Given the description of an element on the screen output the (x, y) to click on. 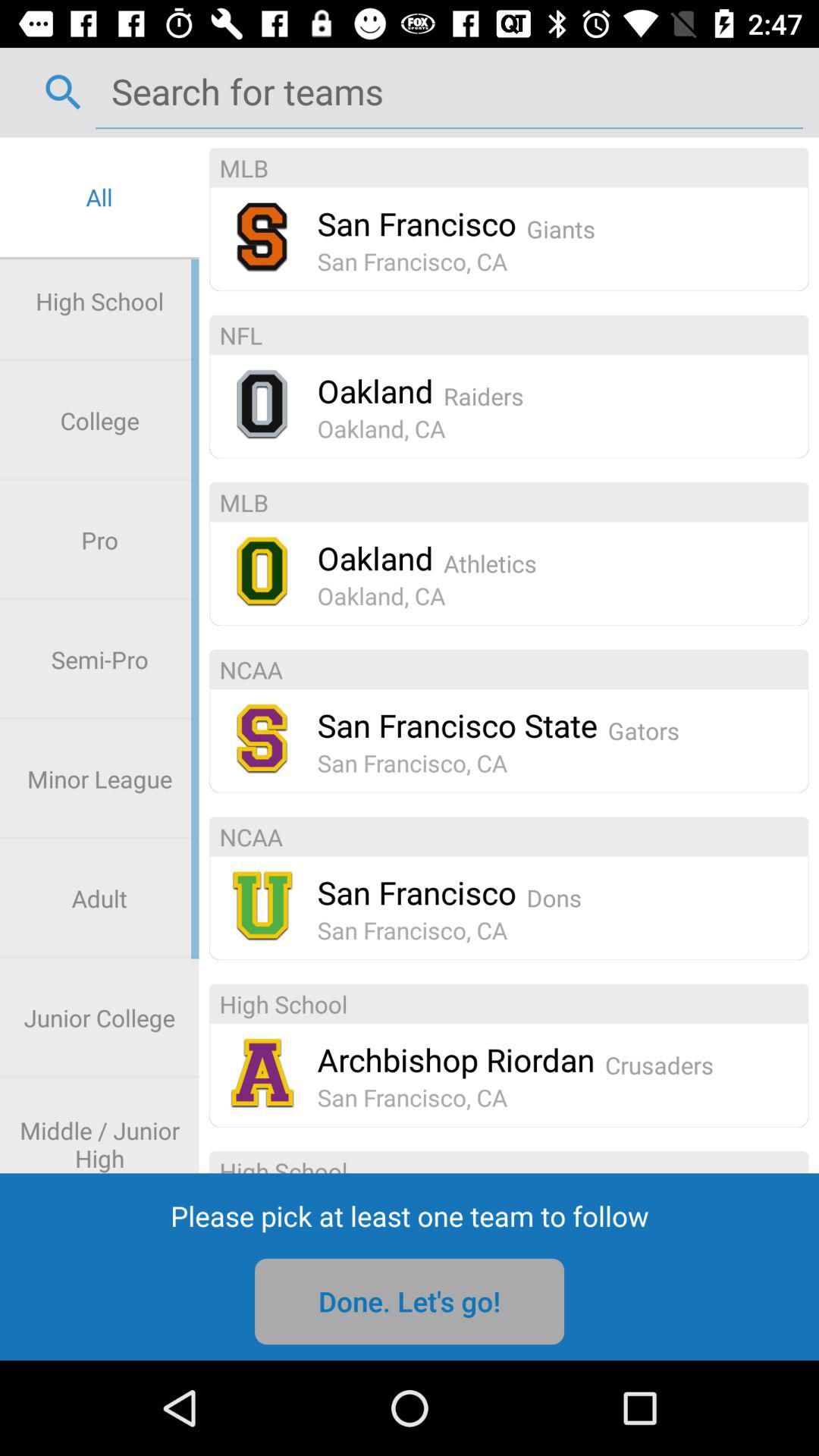
turn off item below the please pick at icon (409, 1301)
